Given the description of an element on the screen output the (x, y) to click on. 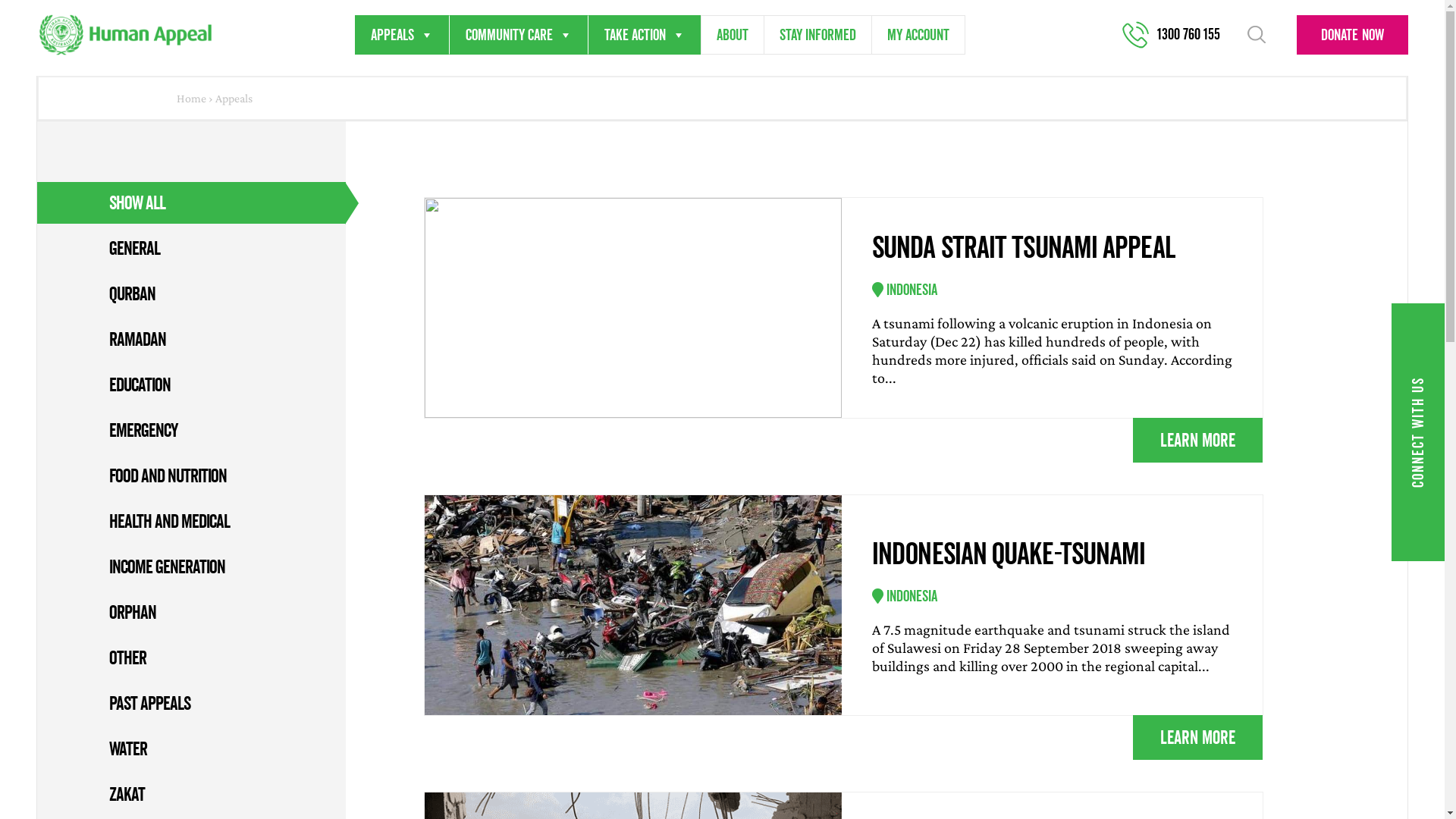
STAY INFORMED Element type: text (817, 34)
Indonesian Quake-Tsunami Element type: text (1052, 553)
Health and Medical Element type: text (169, 520)
Past Appeals Element type: text (149, 702)
Education Element type: text (139, 384)
Other Element type: text (127, 657)
LEARN MORE Element type: text (1197, 440)
Food and Nutrition Element type: text (167, 475)
Sunda Strait Tsunami appeal Element type: text (1052, 247)
Ramadan Element type: text (137, 338)
MY ACCOUNT Element type: text (918, 34)
Zakat Element type: text (126, 793)
Orphan Element type: text (132, 611)
ABOUT Element type: text (732, 34)
General Element type: text (134, 247)
COMMUNITY CARE Element type: text (518, 34)
Qurban Element type: text (132, 293)
Home Element type: text (190, 97)
TAKE ACTION Element type: text (644, 34)
1300 760 155 Element type: text (1179, 34)
Income Generation Element type: text (167, 566)
LEARN MORE Element type: text (1197, 737)
APPEALS Element type: text (401, 34)
DONATE
NOW Element type: text (1352, 34)
Show All Element type: text (137, 202)
Water Element type: text (128, 748)
Emergency Element type: text (143, 429)
